Given the description of an element on the screen output the (x, y) to click on. 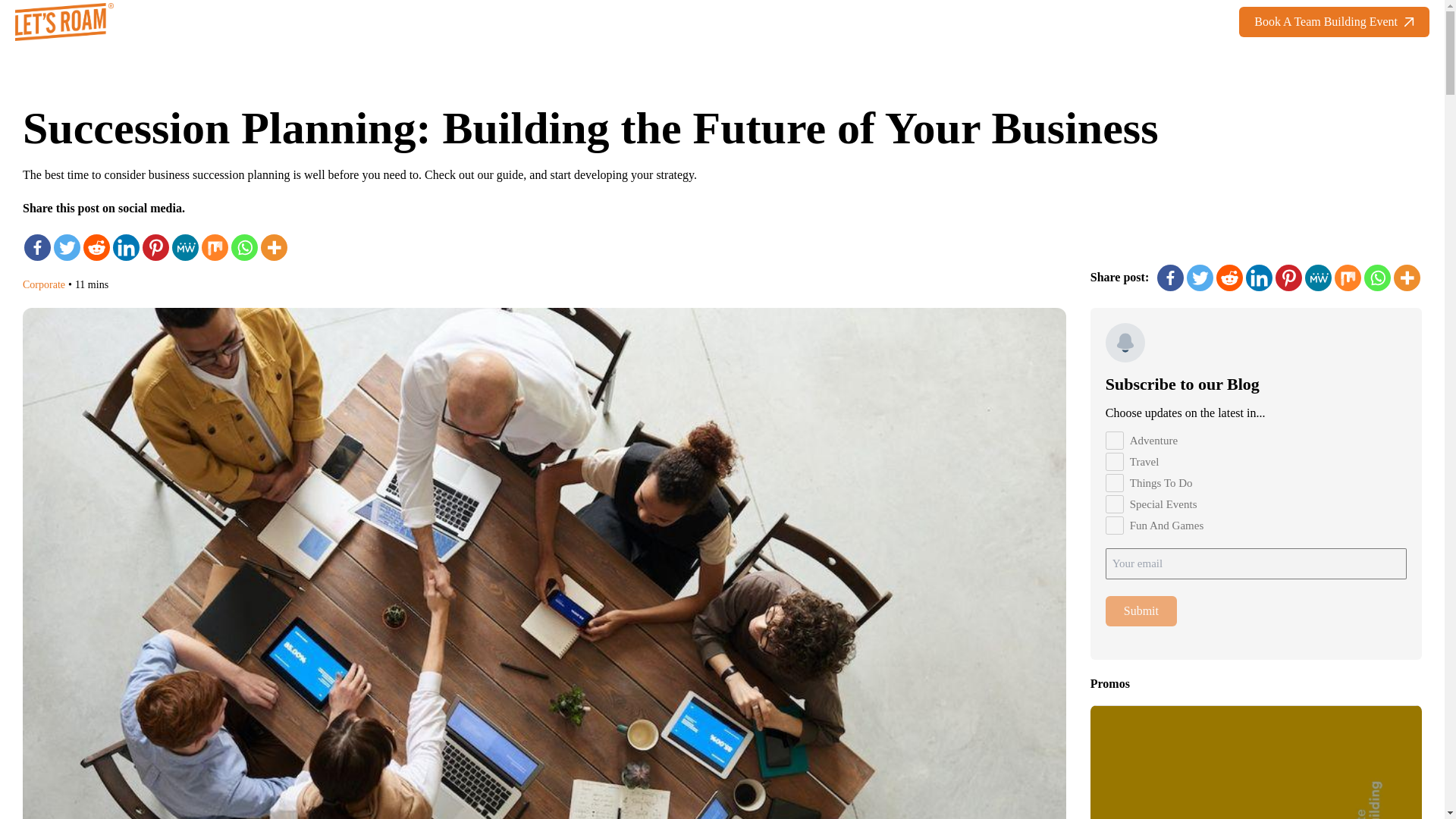
Fun And Games (1114, 525)
Linkedin (126, 247)
Adventure (1114, 440)
Facebook (37, 247)
Whatsapp (244, 247)
Special Events (1114, 504)
Mix (215, 247)
Corporate (44, 284)
MeWe (184, 247)
Things To Do (1114, 483)
Twitter (66, 247)
Book A Team Building Event (1334, 21)
Travel (1114, 461)
More (273, 247)
Submit (1140, 611)
